Given the description of an element on the screen output the (x, y) to click on. 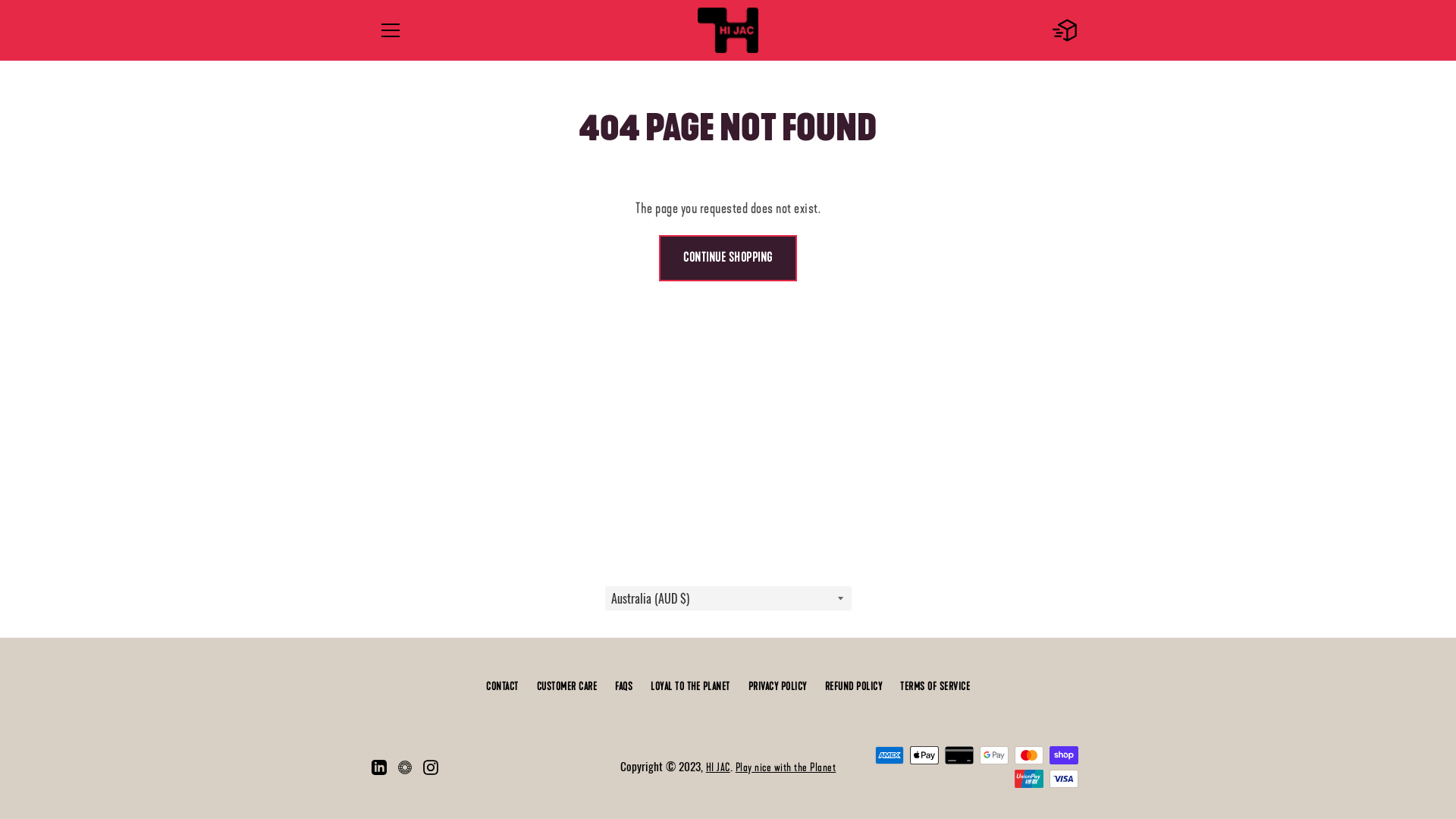
Skip to content Element type: text (0, 0)
REFUND POLICY Element type: text (853, 686)
Instagram Element type: text (430, 765)
VIEW CART Element type: text (1065, 30)
MENU Element type: text (390, 30)
FAQS Element type: text (623, 686)
TERMS OF SERVICE Element type: text (934, 686)
LinkedIn Element type: text (378, 765)
CONTACT Element type: text (502, 686)
CONTINUE SHOPPING Element type: text (727, 258)
PRIVACY POLICY Element type: text (776, 686)
HI JAC Element type: text (718, 767)
VSCO Element type: text (404, 765)
CUSTOMER CARE Element type: text (566, 686)
LOYAL TO THE PLANET Element type: text (690, 686)
Play nice with the Planet Element type: text (785, 767)
